Given the description of an element on the screen output the (x, y) to click on. 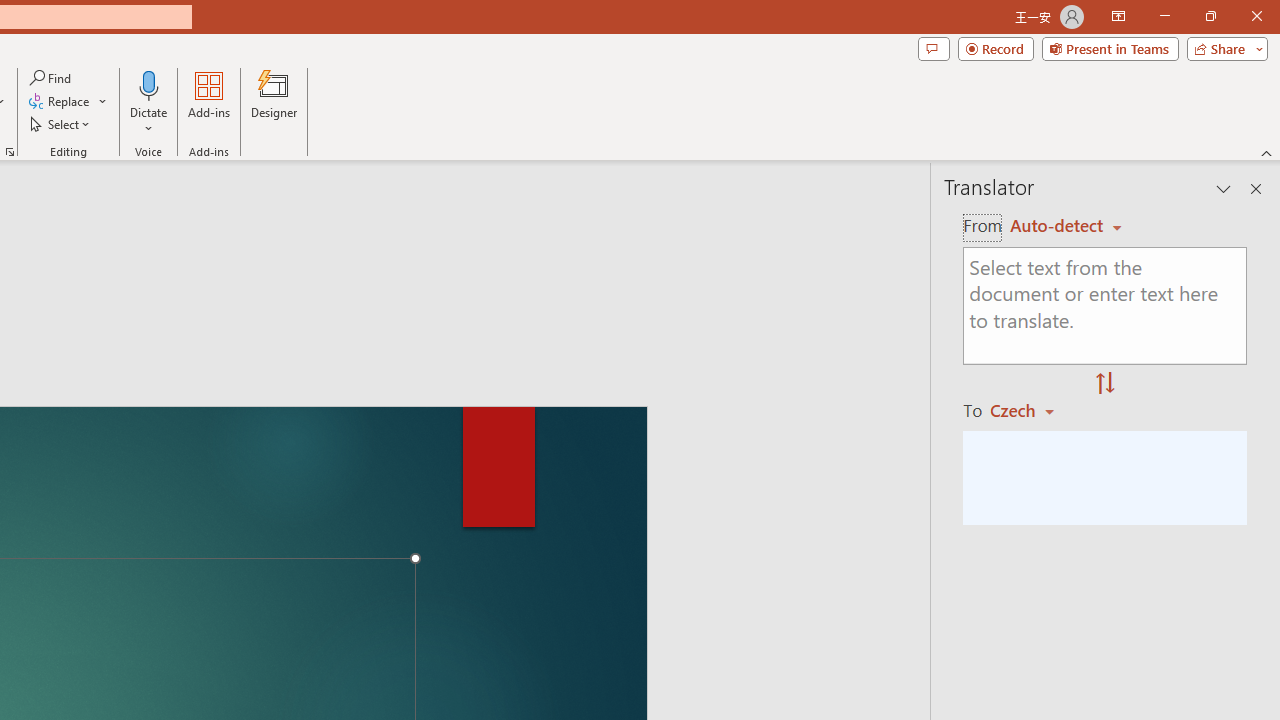
Auto-detect (1066, 225)
Find... (51, 78)
